Given the description of an element on the screen output the (x, y) to click on. 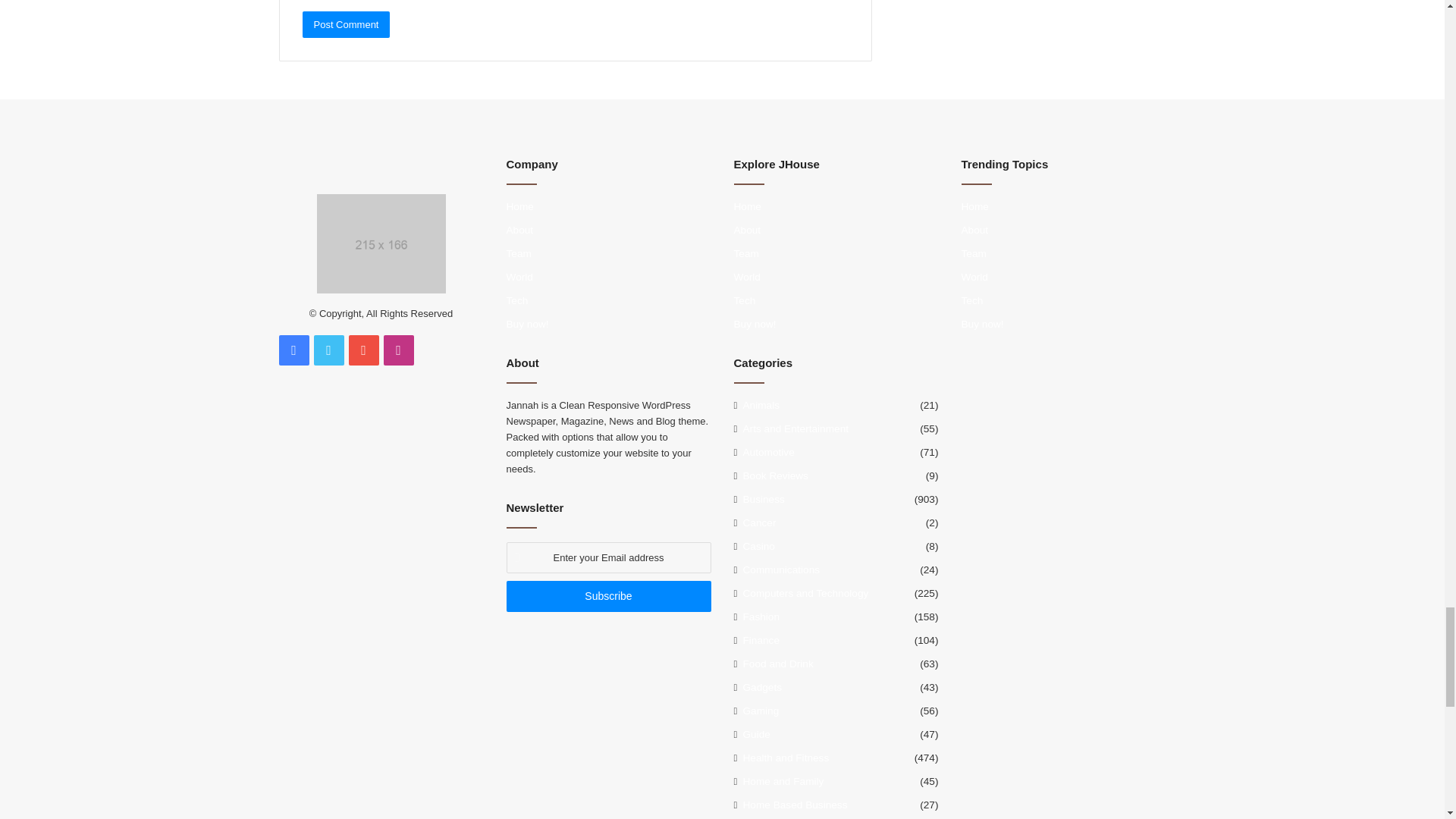
Post Comment (345, 24)
Subscribe (608, 595)
